Given the description of an element on the screen output the (x, y) to click on. 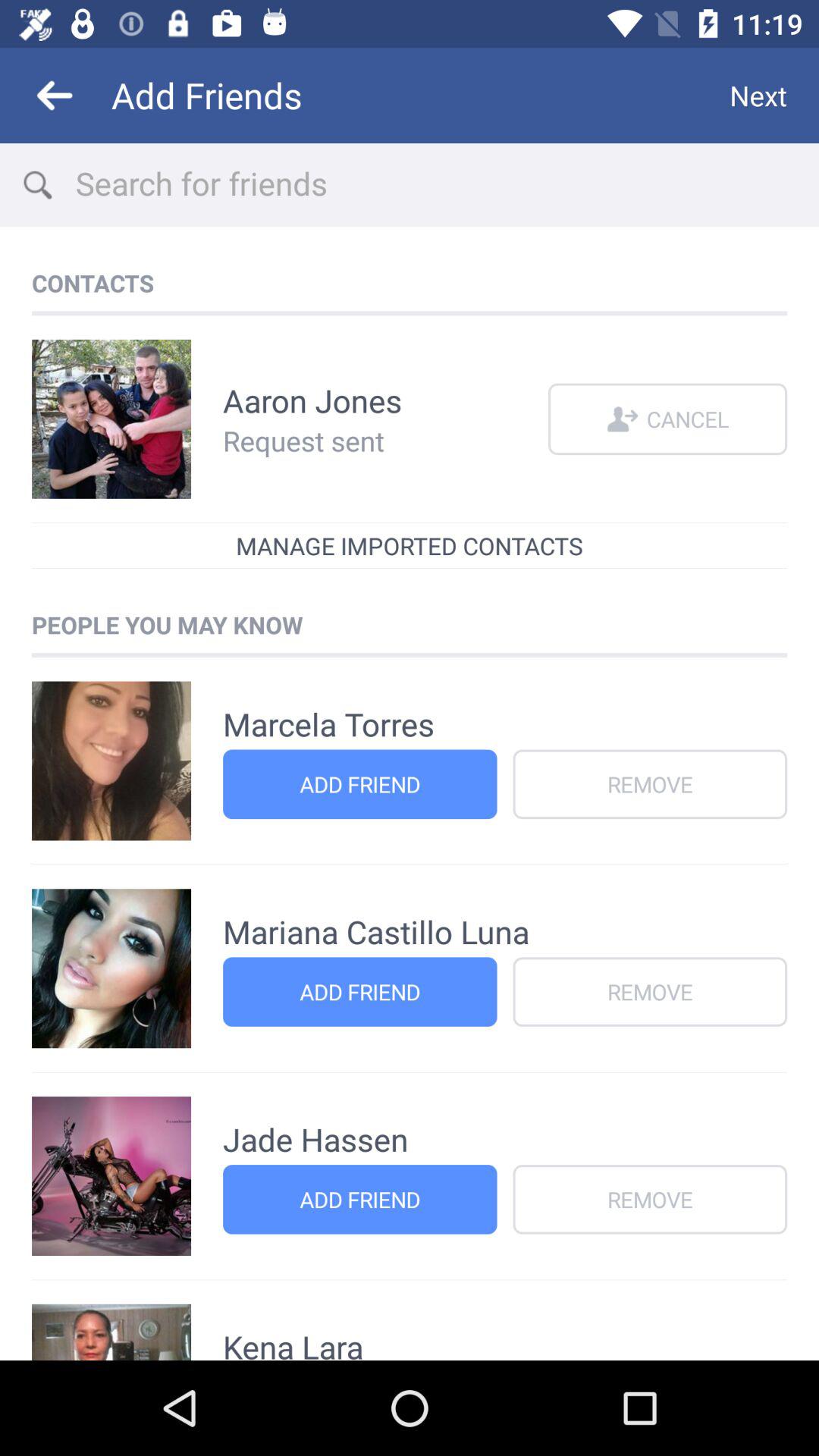
search page (447, 184)
